Given the description of an element on the screen output the (x, y) to click on. 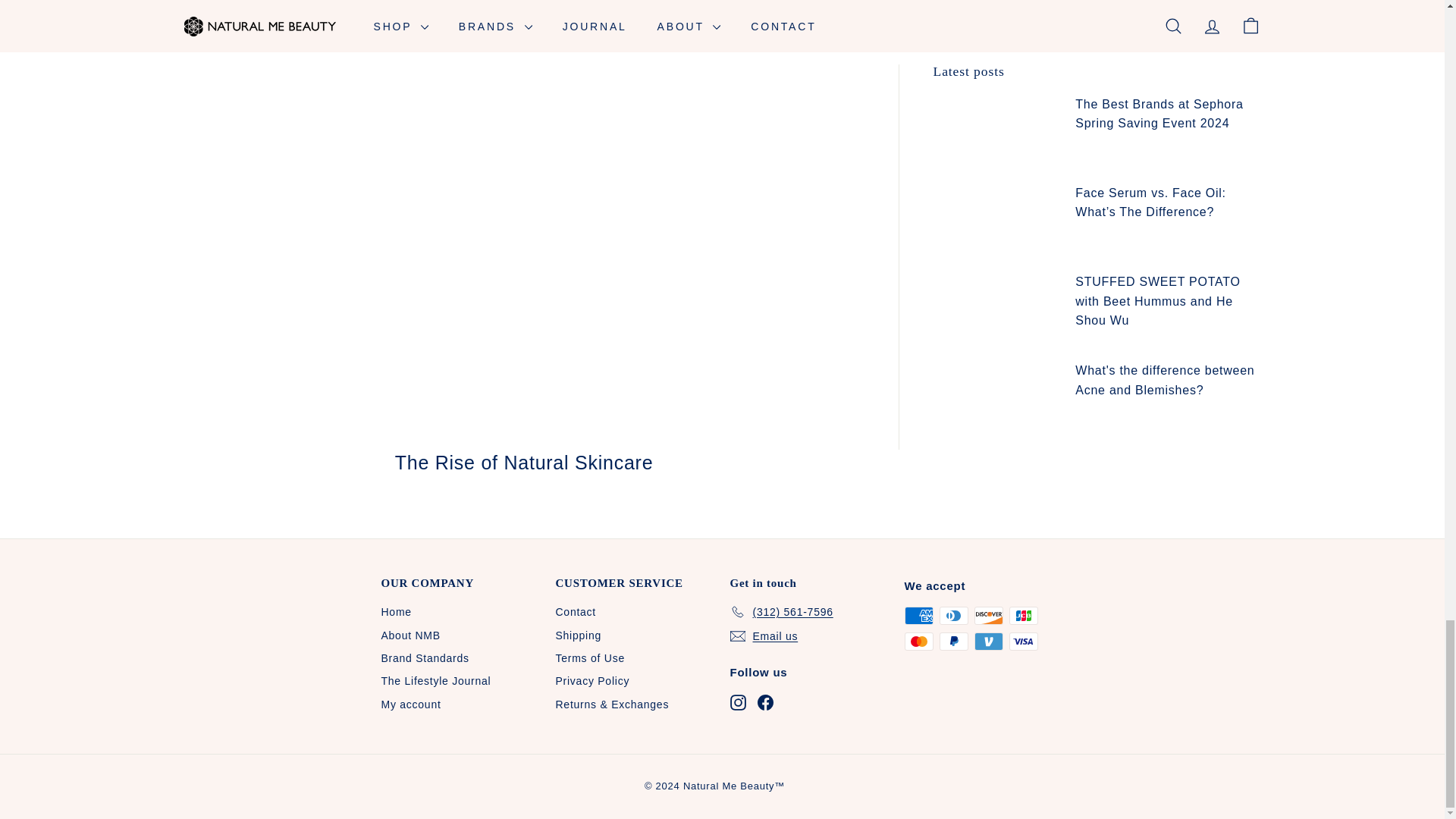
instagram (737, 702)
American Express (918, 615)
Diners Club (953, 615)
